Given the description of an element on the screen output the (x, y) to click on. 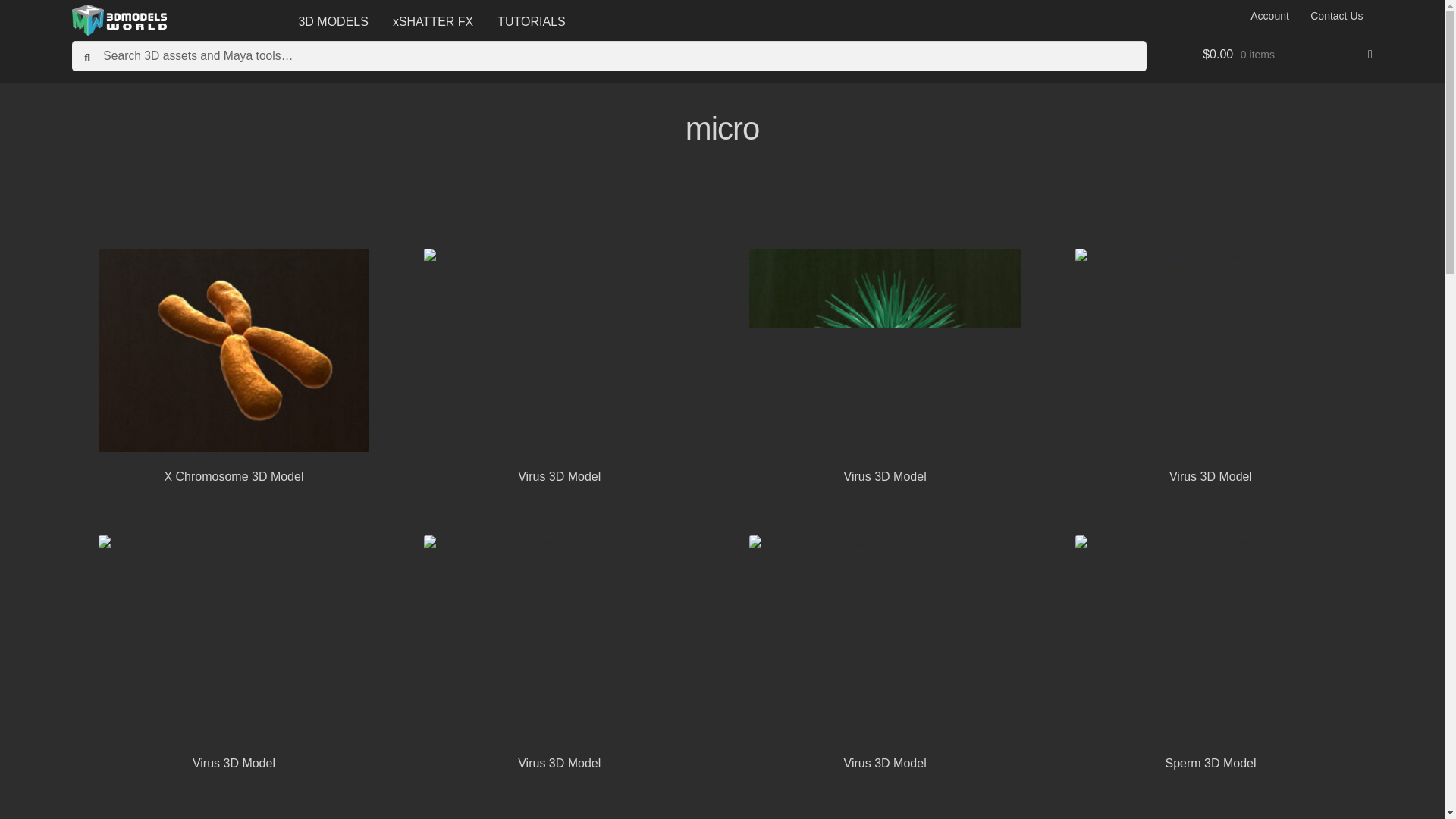
TUTORIALS (531, 21)
Virus 3D Model (884, 652)
Virus 3D Model (1210, 366)
View your shopping cart (1287, 54)
xSHATTER FX (432, 21)
3D MODELS (332, 21)
Virus 3D Model (559, 652)
Virus 3D Model (884, 366)
Sperm 3D Model (1210, 652)
